Given the description of an element on the screen output the (x, y) to click on. 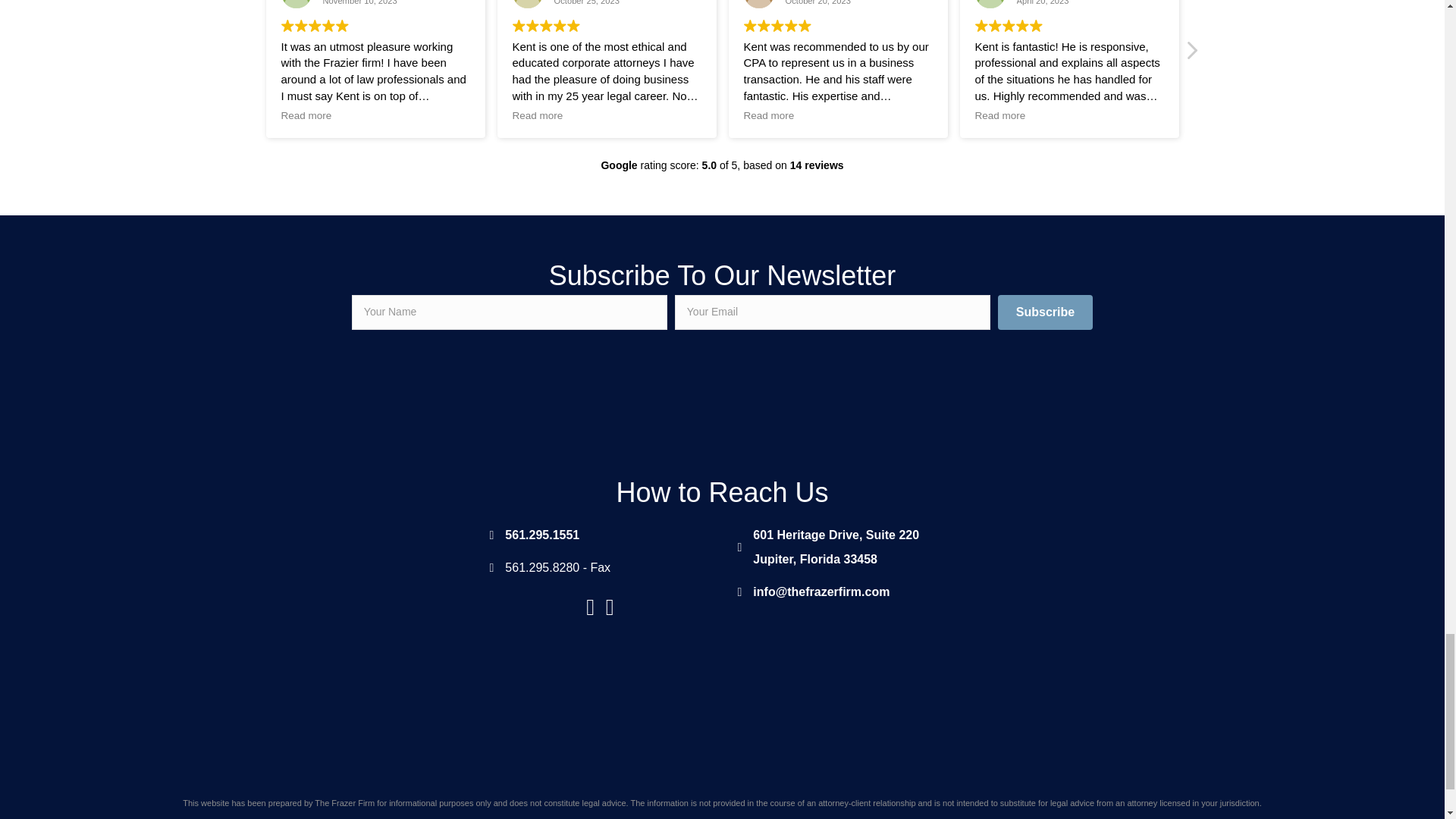
Subscribe (1045, 312)
561.295.1551 (542, 535)
florida-trends-legal-elite-logo (1052, 392)
Blue-box-full-badge-F (835, 547)
Click Here (391, 390)
